Given the description of an element on the screen output the (x, y) to click on. 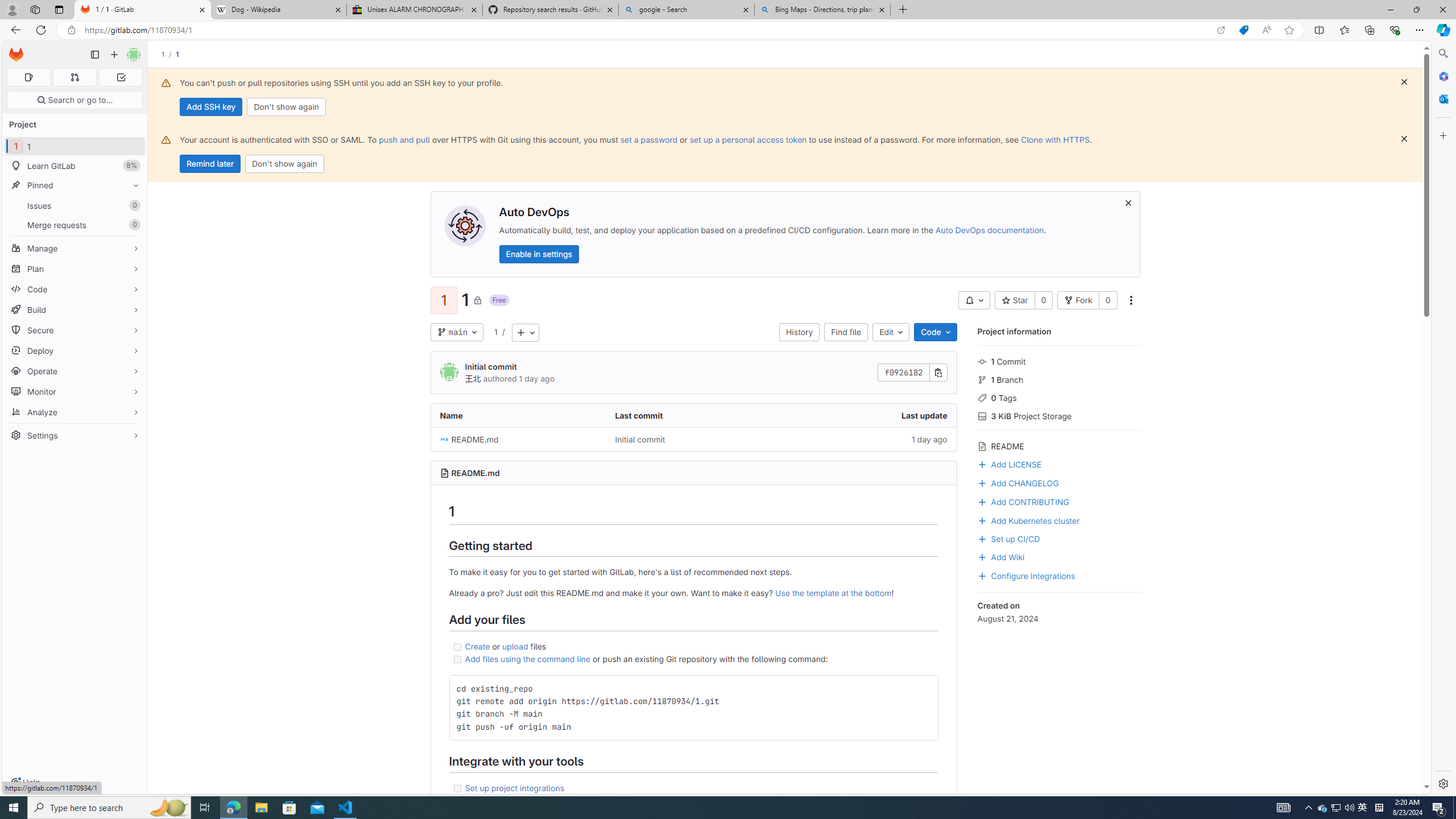
To-Do list 0 (120, 76)
Create (477, 646)
Unpin Merge requests (132, 224)
Learn GitLab8% (74, 165)
Add LICENSE (1009, 463)
Set up CI/CD (1058, 537)
Merge requests0 (74, 224)
Add Wiki (1058, 556)
